Given the description of an element on the screen output the (x, y) to click on. 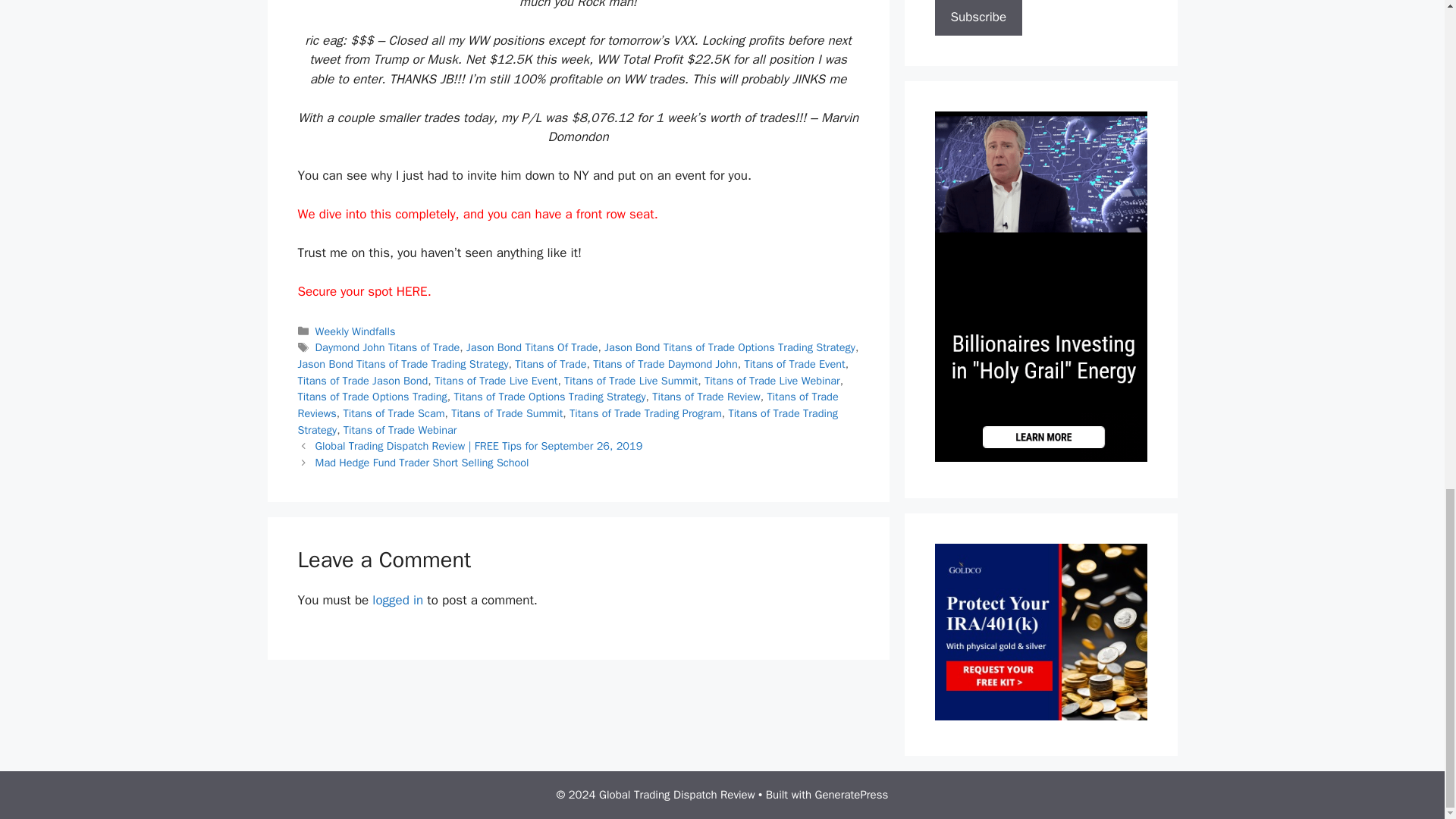
Titans of Trade Event (794, 364)
Titans of Trade Trading Strategy (567, 421)
Next (422, 462)
Titans of Trade Webinar (400, 429)
Titans of Trade Scam (393, 413)
Titans of Trade Live Summit (630, 380)
Titans of Trade Options Trading (371, 396)
Porter Stansberry Energy Grid (1040, 457)
Jason Bond Titans Of Trade (531, 346)
Titans of Trade Summit (506, 413)
Titans of Trade Review (706, 396)
Titans of Trade Live Webinar (772, 380)
Secure your spot HERE. (363, 291)
Jason Bond Titans of Trade Trading Strategy (402, 364)
